Given the description of an element on the screen output the (x, y) to click on. 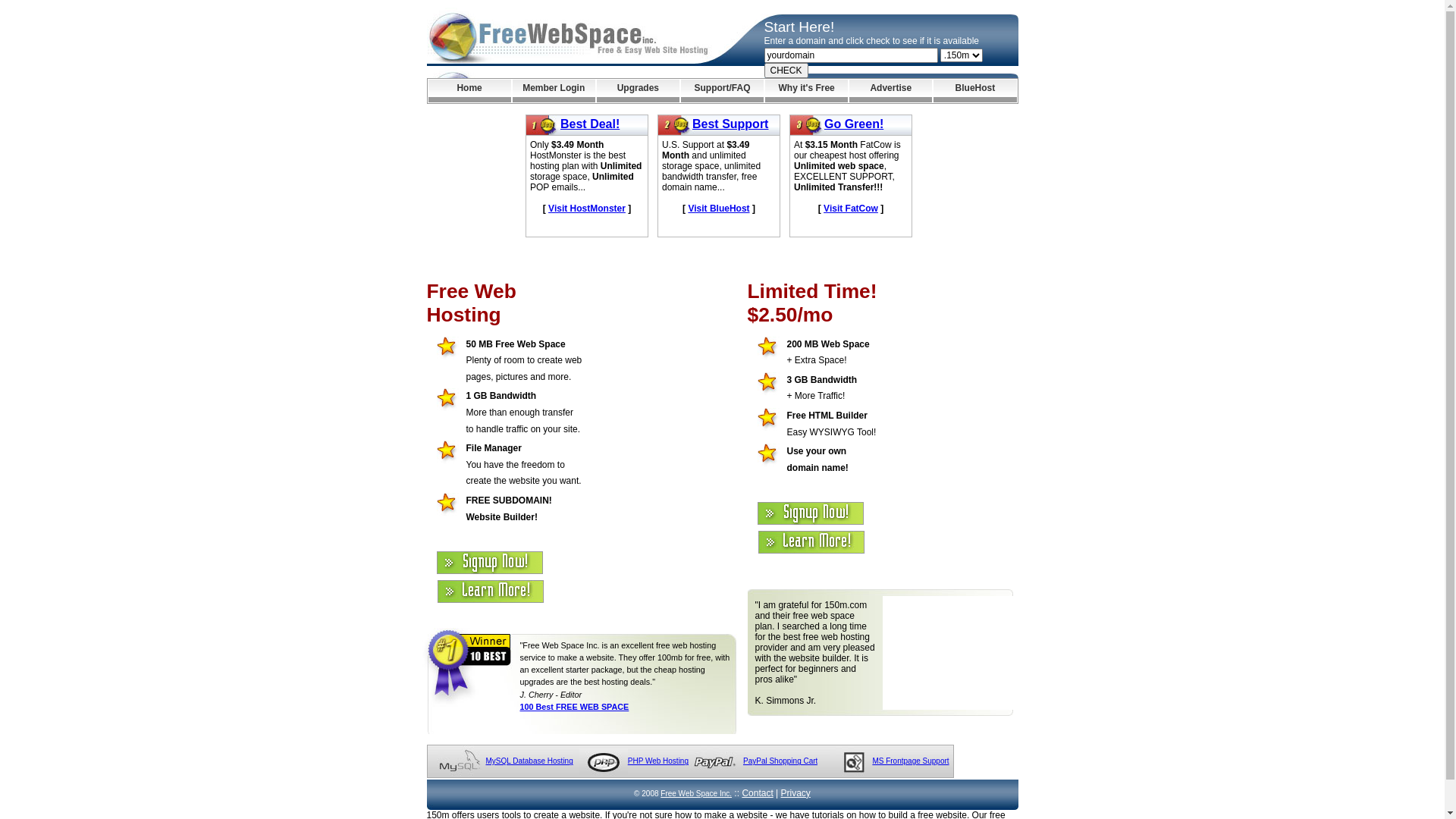
Member Login Element type: text (553, 90)
PHP Web Hosting Element type: text (657, 760)
Free Web Space Inc. Element type: text (695, 793)
Privacy Element type: text (795, 792)
BlueHost Element type: text (974, 90)
MS Frontpage Support Element type: text (910, 760)
Home Element type: text (468, 90)
Why it's Free Element type: text (806, 90)
CHECK Element type: text (786, 70)
Advertise Element type: text (890, 90)
Contact Element type: text (756, 792)
Support/FAQ Element type: text (721, 90)
PayPal Shopping Cart Element type: text (780, 760)
MySQL Database Hosting Element type: text (528, 760)
100 Best FREE WEB SPACE Element type: text (574, 706)
Upgrades Element type: text (637, 90)
